Given the description of an element on the screen output the (x, y) to click on. 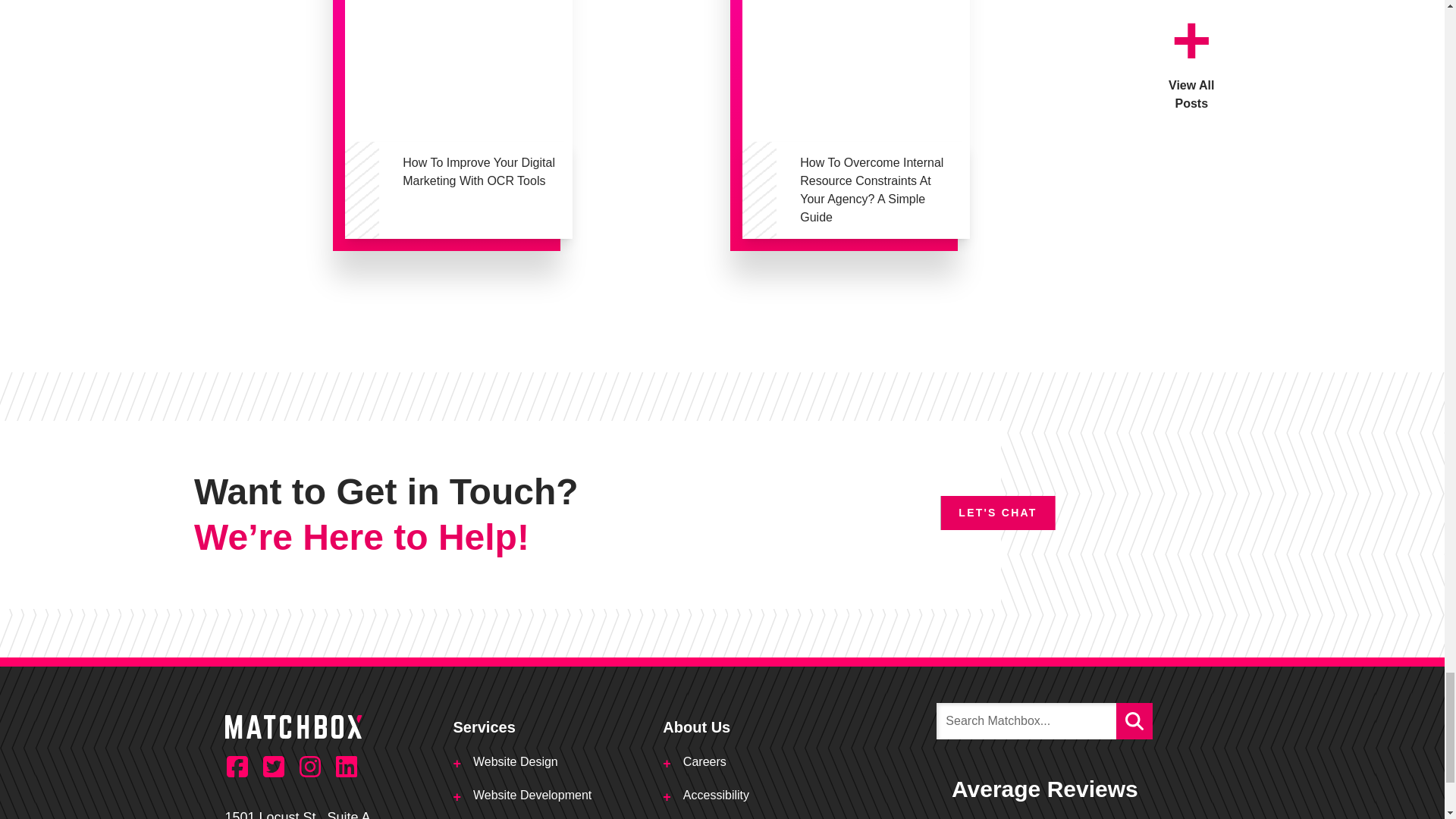
Search (1134, 720)
